Given the description of an element on the screen output the (x, y) to click on. 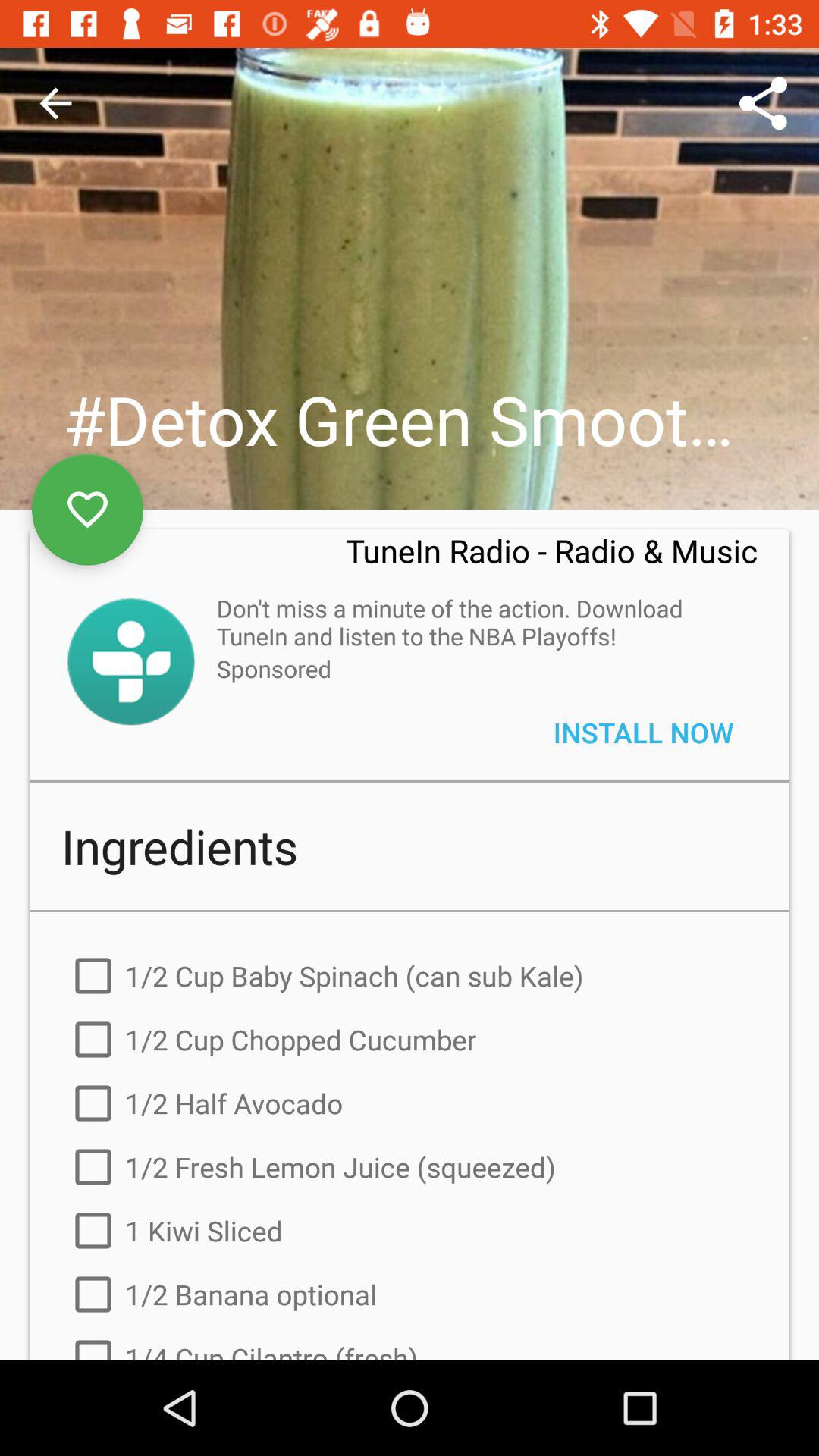
click the sponsored item (273, 668)
